Given the description of an element on the screen output the (x, y) to click on. 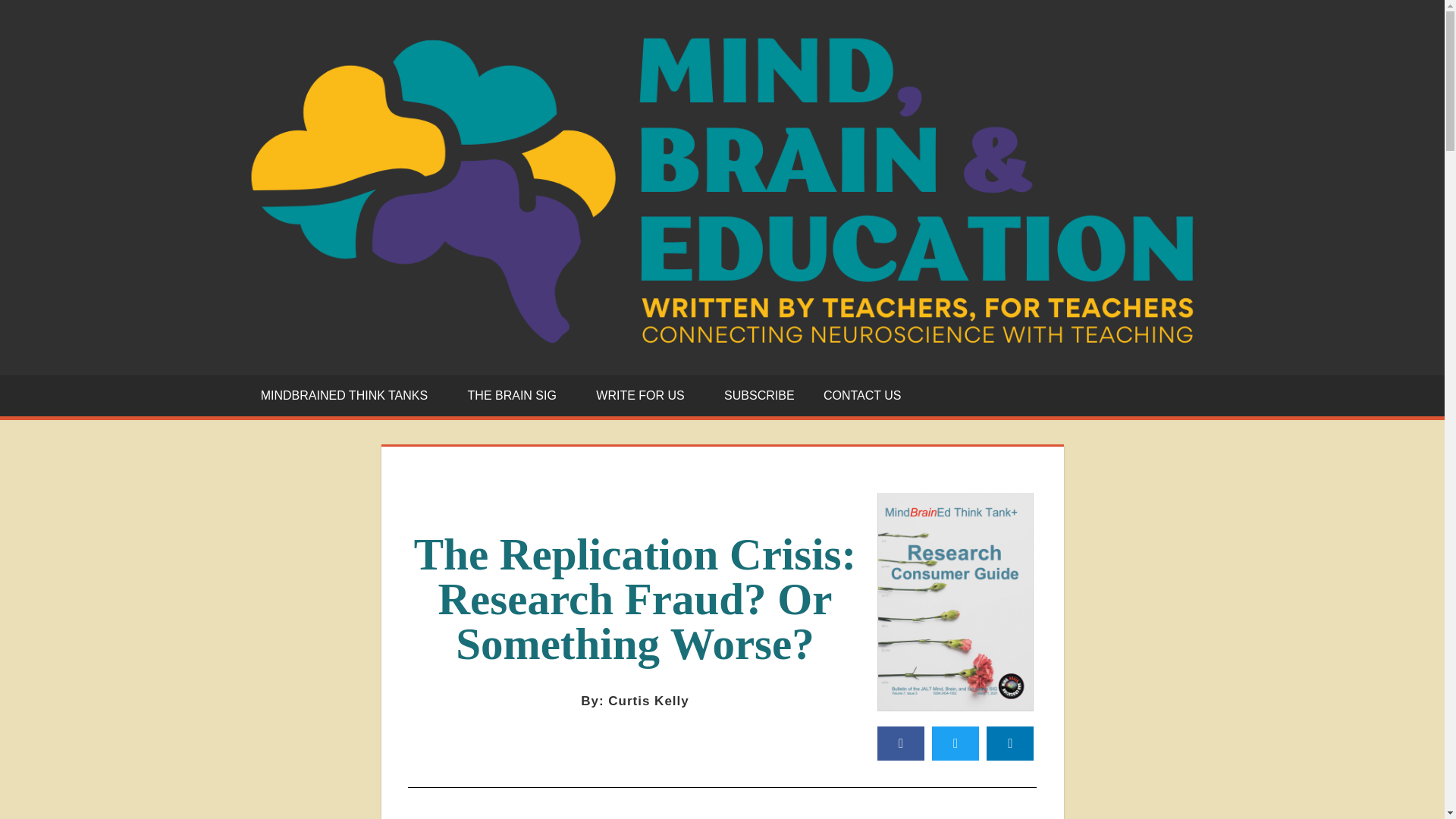
CONTACT US (862, 395)
WRITE FOR US (645, 395)
MINDBRAINED THINK TANKS (349, 395)
SUBSCRIBE (759, 395)
THE BRAIN SIG (516, 395)
